Given the description of an element on the screen output the (x, y) to click on. 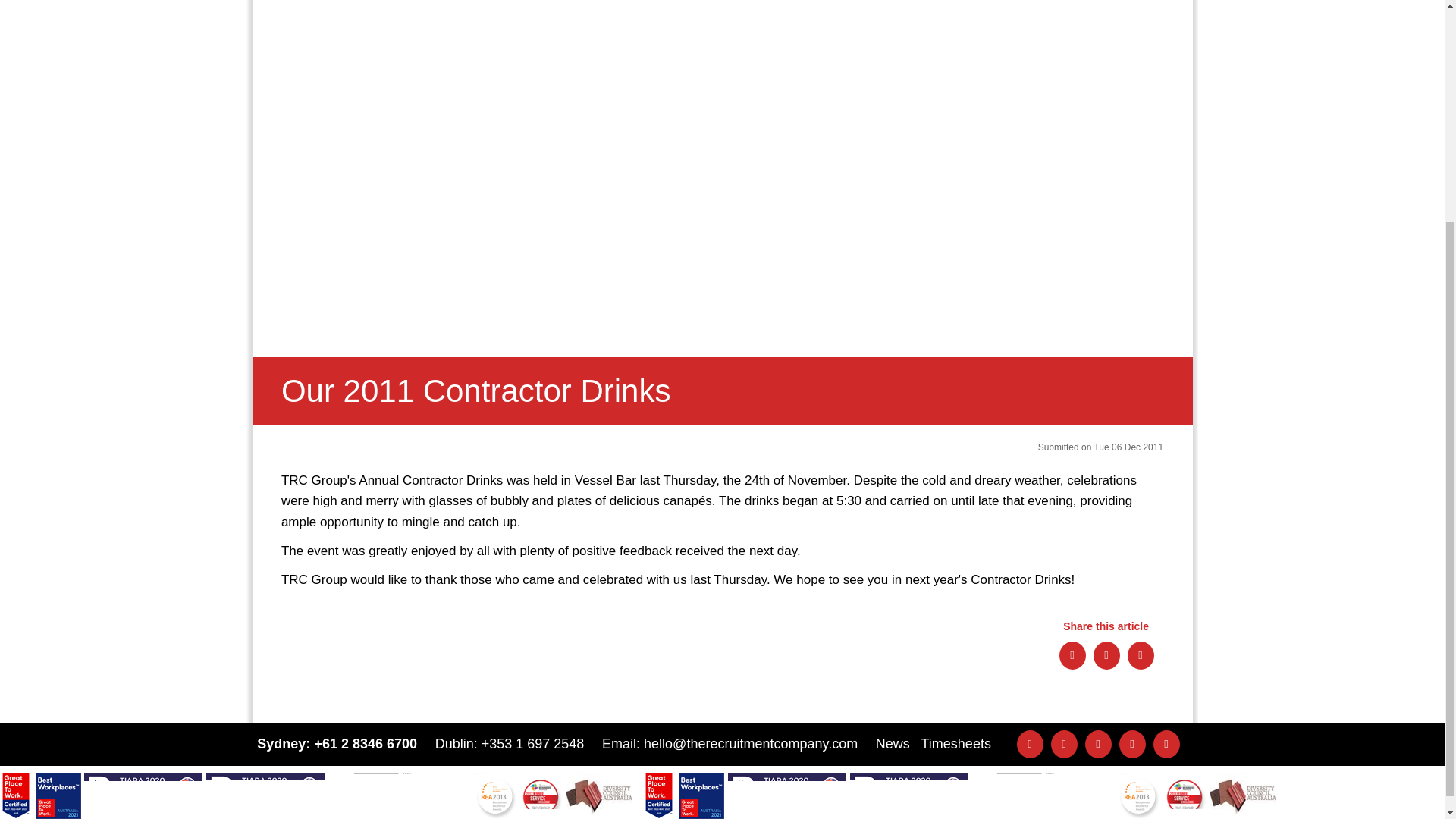
Timesheets (956, 743)
News (893, 743)
